Given the description of an element on the screen output the (x, y) to click on. 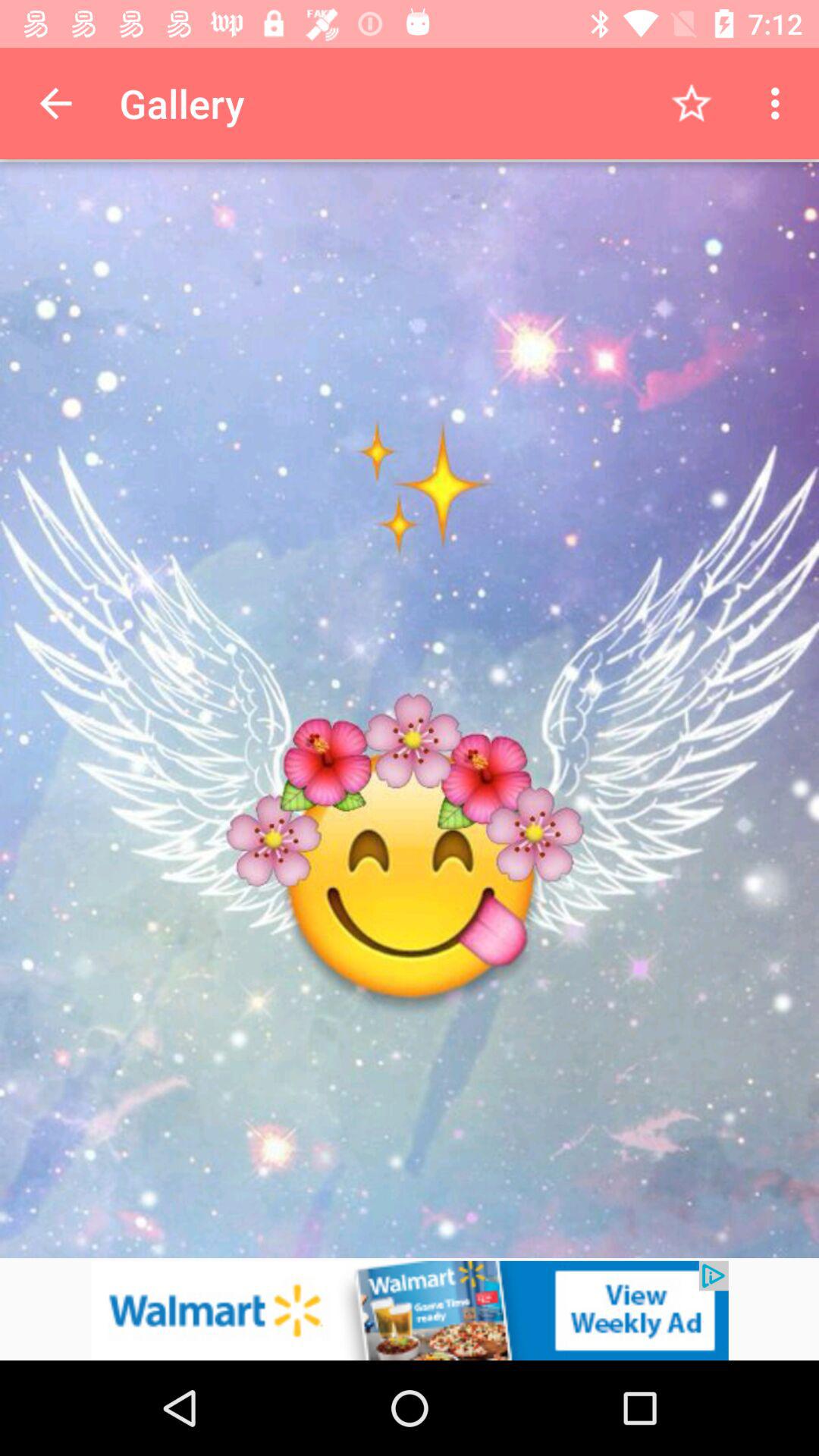
adversement (409, 1310)
